Given the description of an element on the screen output the (x, y) to click on. 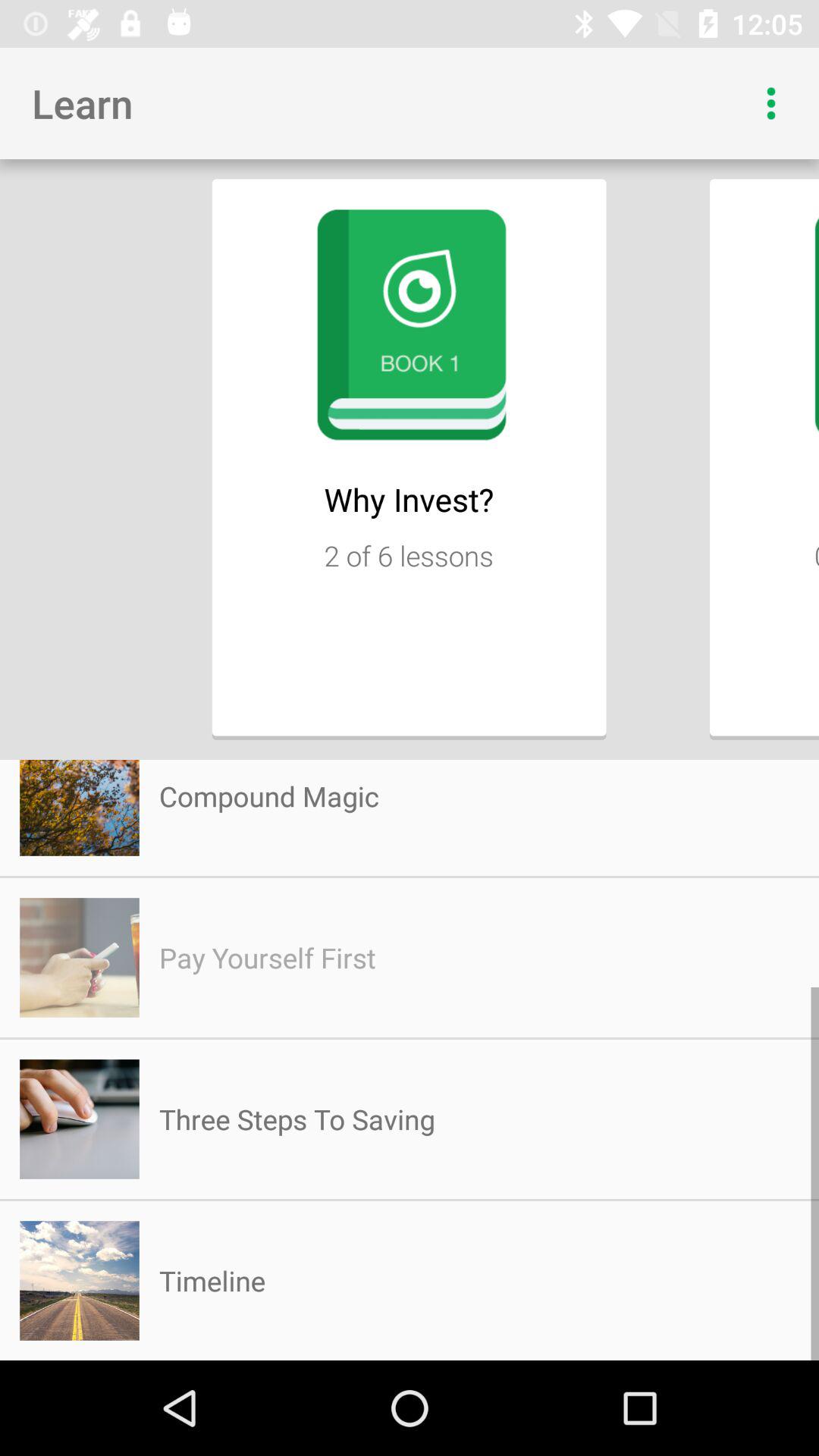
drop down menu (771, 103)
